Given the description of an element on the screen output the (x, y) to click on. 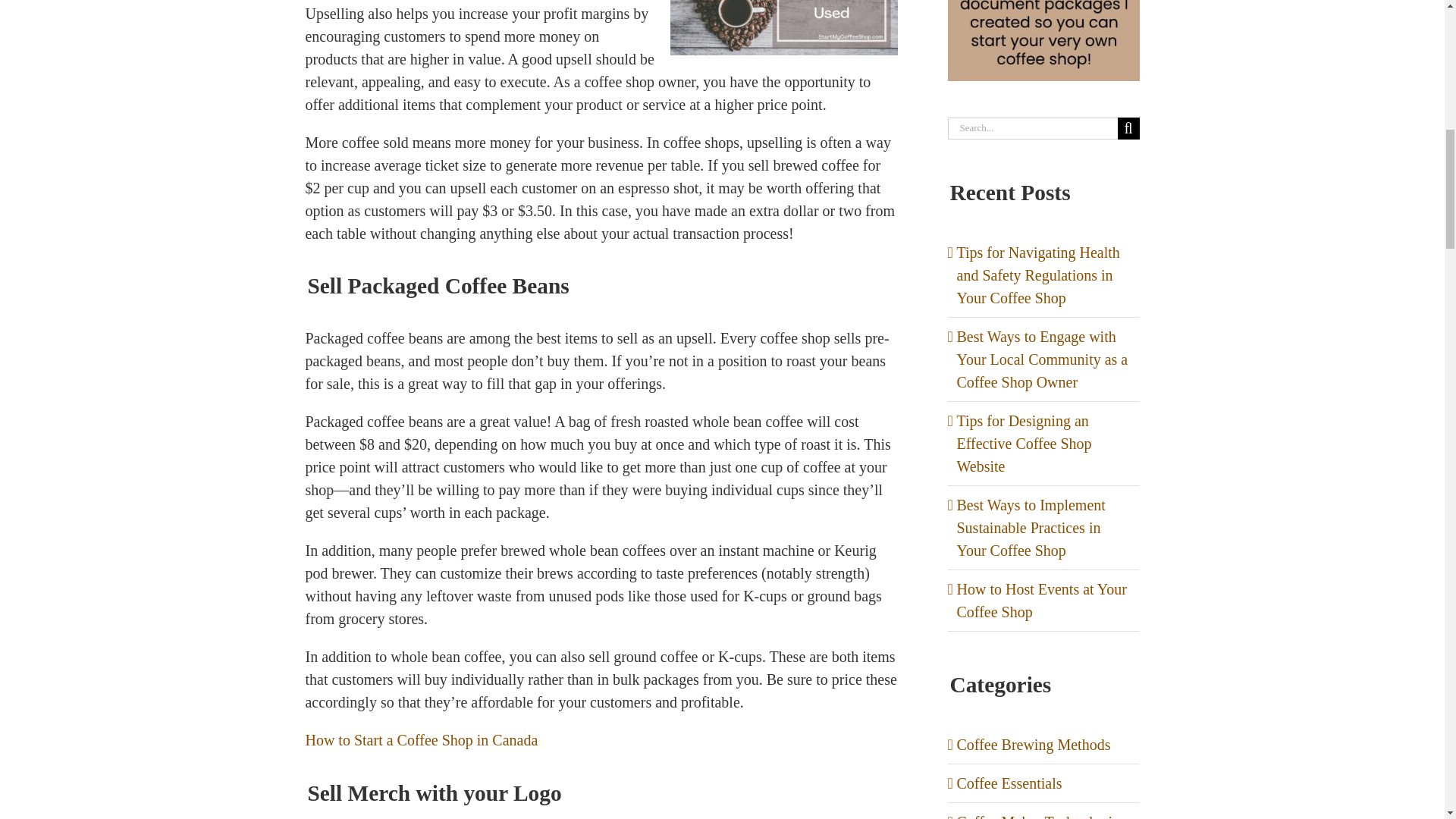
How to Start a Coffee Shop in Canada (420, 740)
